Given the description of an element on the screen output the (x, y) to click on. 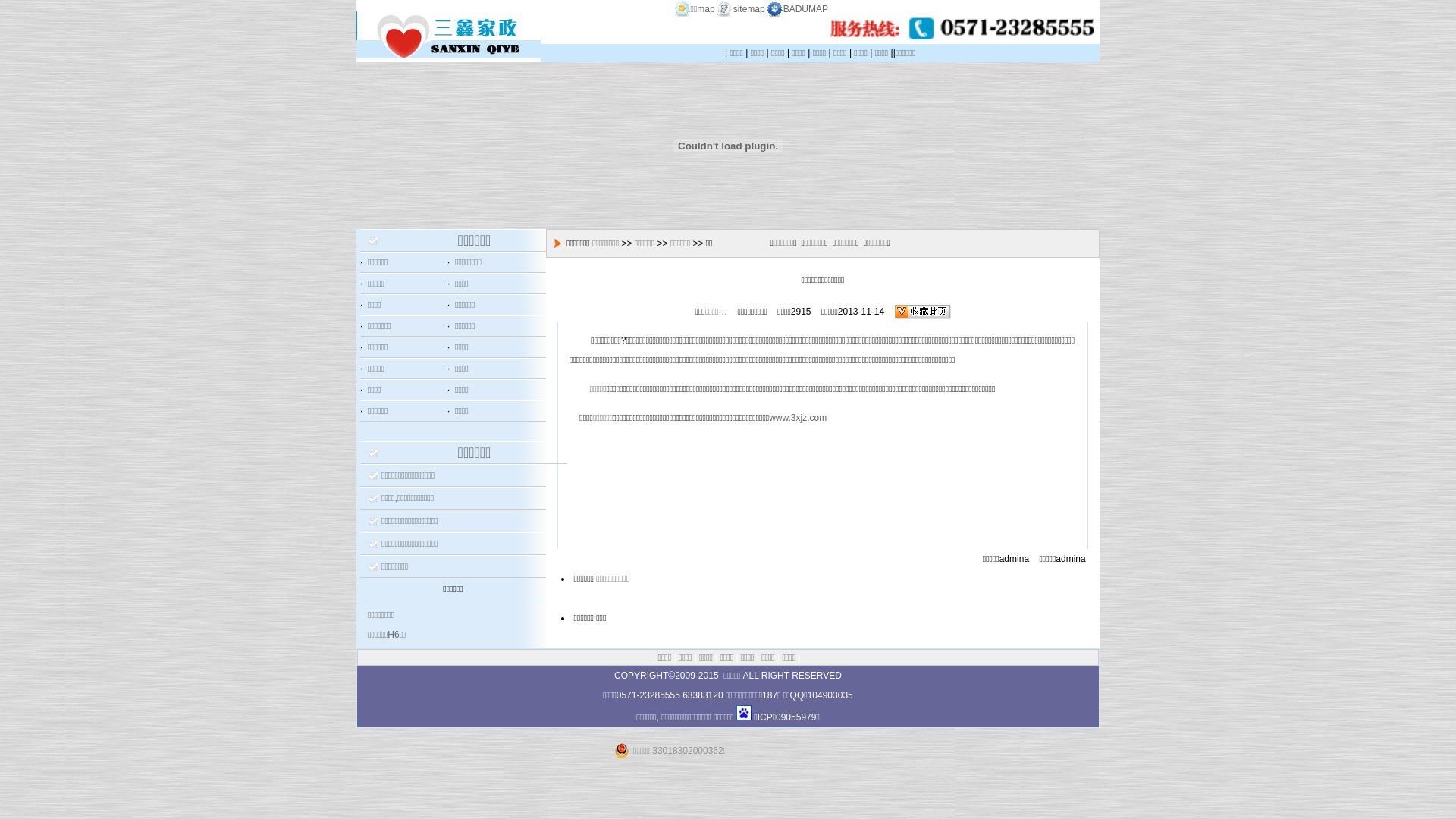
sitemap Element type: text (740, 9)
www.3xjz.com Element type: text (797, 417)
BADUMAP Element type: text (796, 9)
